Given the description of an element on the screen output the (x, y) to click on. 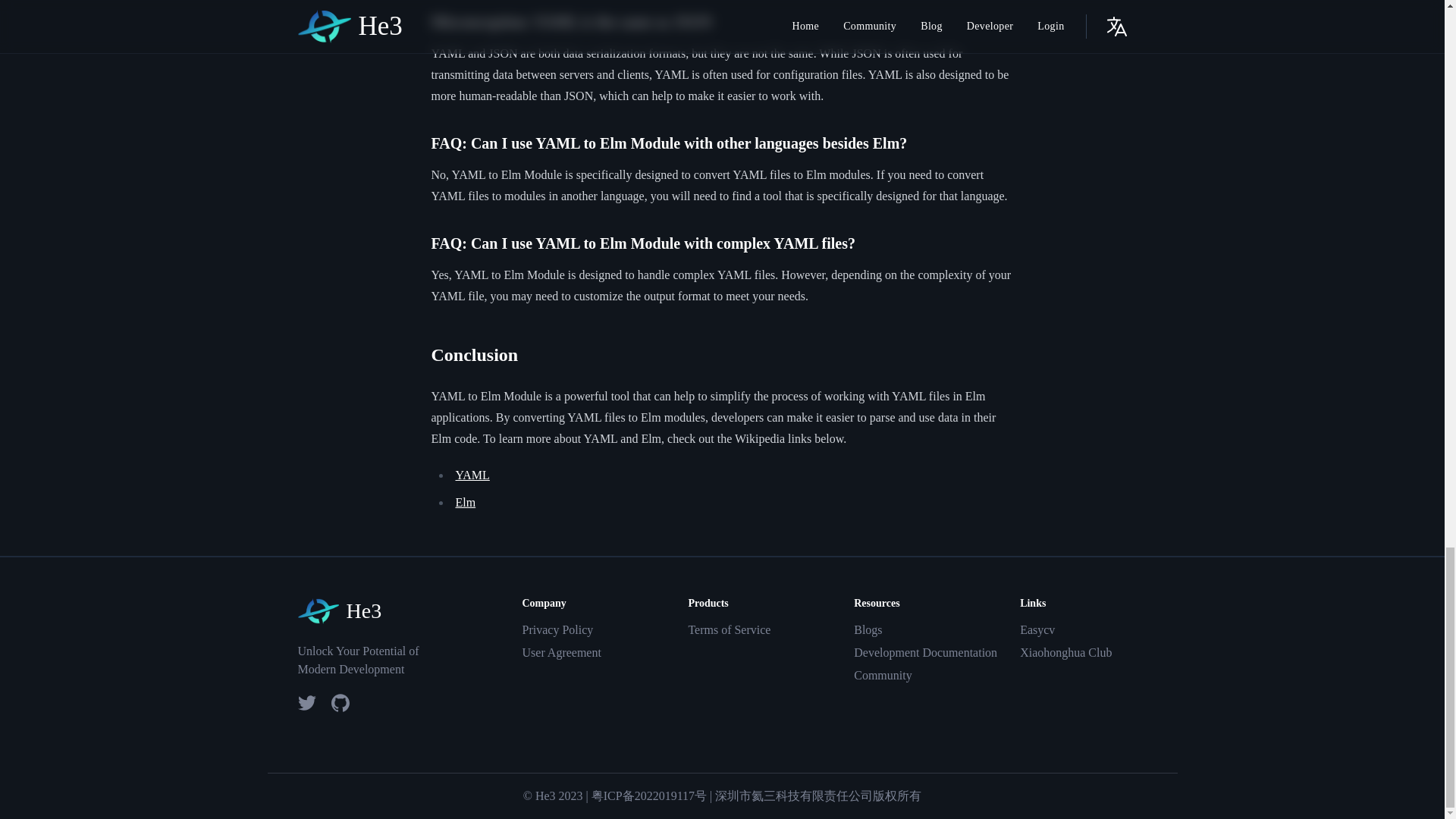
Privacy Policy (599, 630)
Xiaohonghua Club (1098, 652)
YAML (471, 474)
Easycv (1098, 630)
Community (931, 675)
User Agreement (599, 652)
Development Documentation (931, 652)
Blogs (931, 630)
Elm (465, 502)
Terms of Service (765, 630)
